Given the description of an element on the screen output the (x, y) to click on. 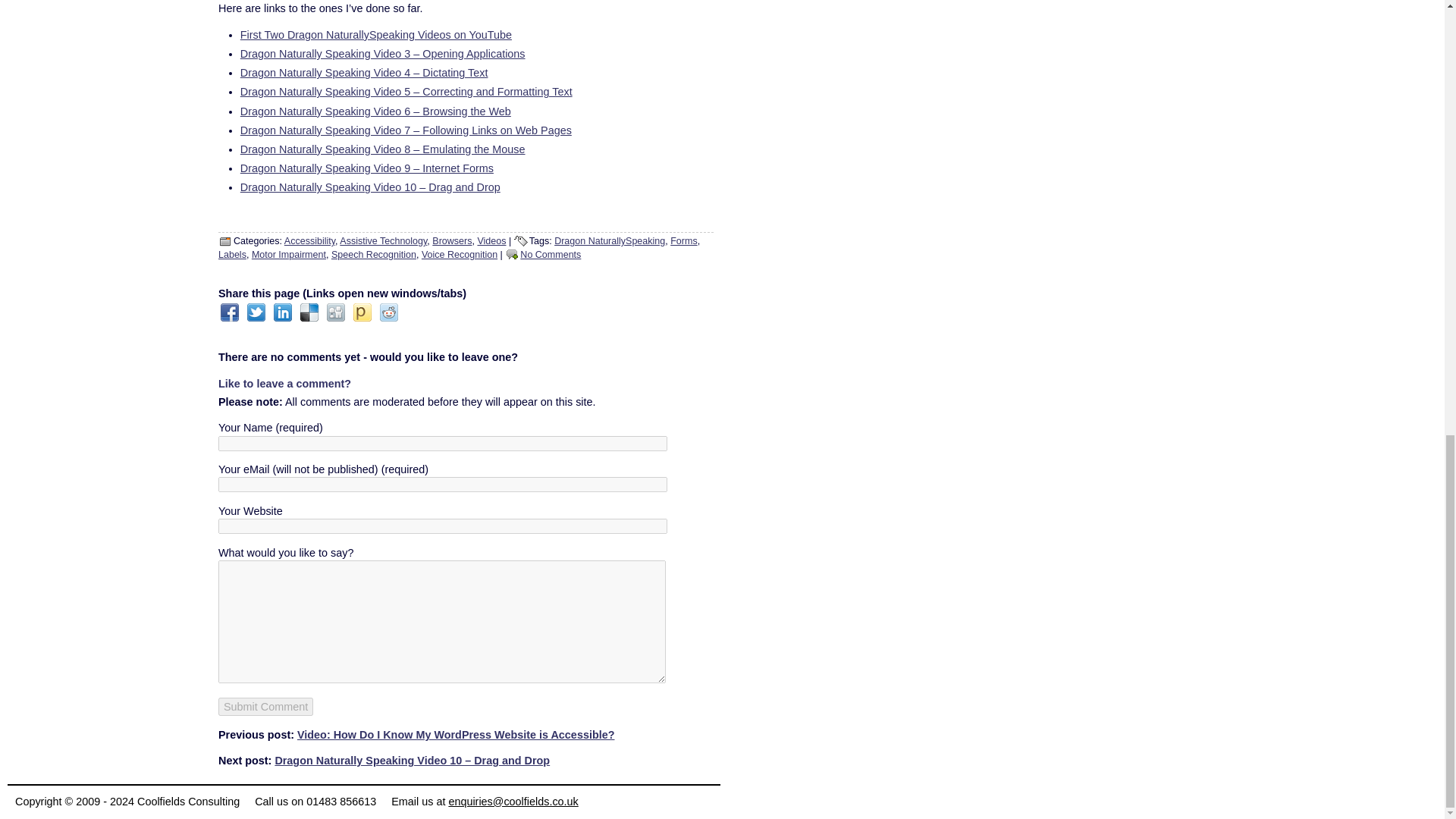
Forms (683, 240)
First Two Dragon NaturallySpeaking Videos on YouTube (376, 34)
Motor Impairment (288, 254)
Voice Recognition (459, 254)
Video: How Do I Know My WordPress Website is Accessible? (455, 734)
Browsers (451, 240)
Assistive Technology (382, 240)
Speech Recognition (373, 254)
Submit Comment (265, 706)
